Given the description of an element on the screen output the (x, y) to click on. 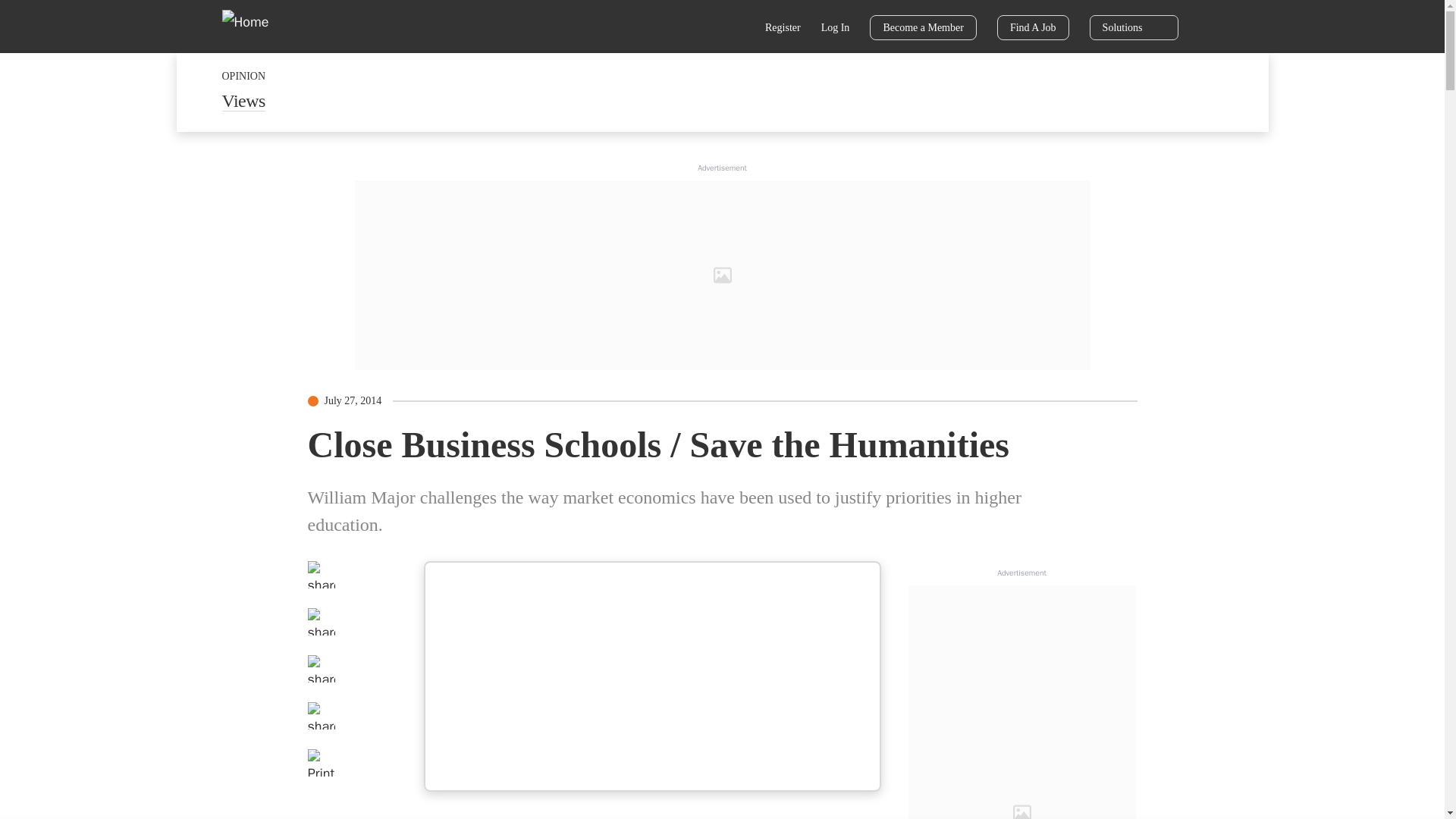
Search (736, 28)
share by email (320, 715)
share to facebook (320, 574)
Find A Job (1032, 27)
Become a Member (922, 27)
Home (255, 26)
share to Linkedin (320, 668)
share to twitter (320, 621)
